Given the description of an element on the screen output the (x, y) to click on. 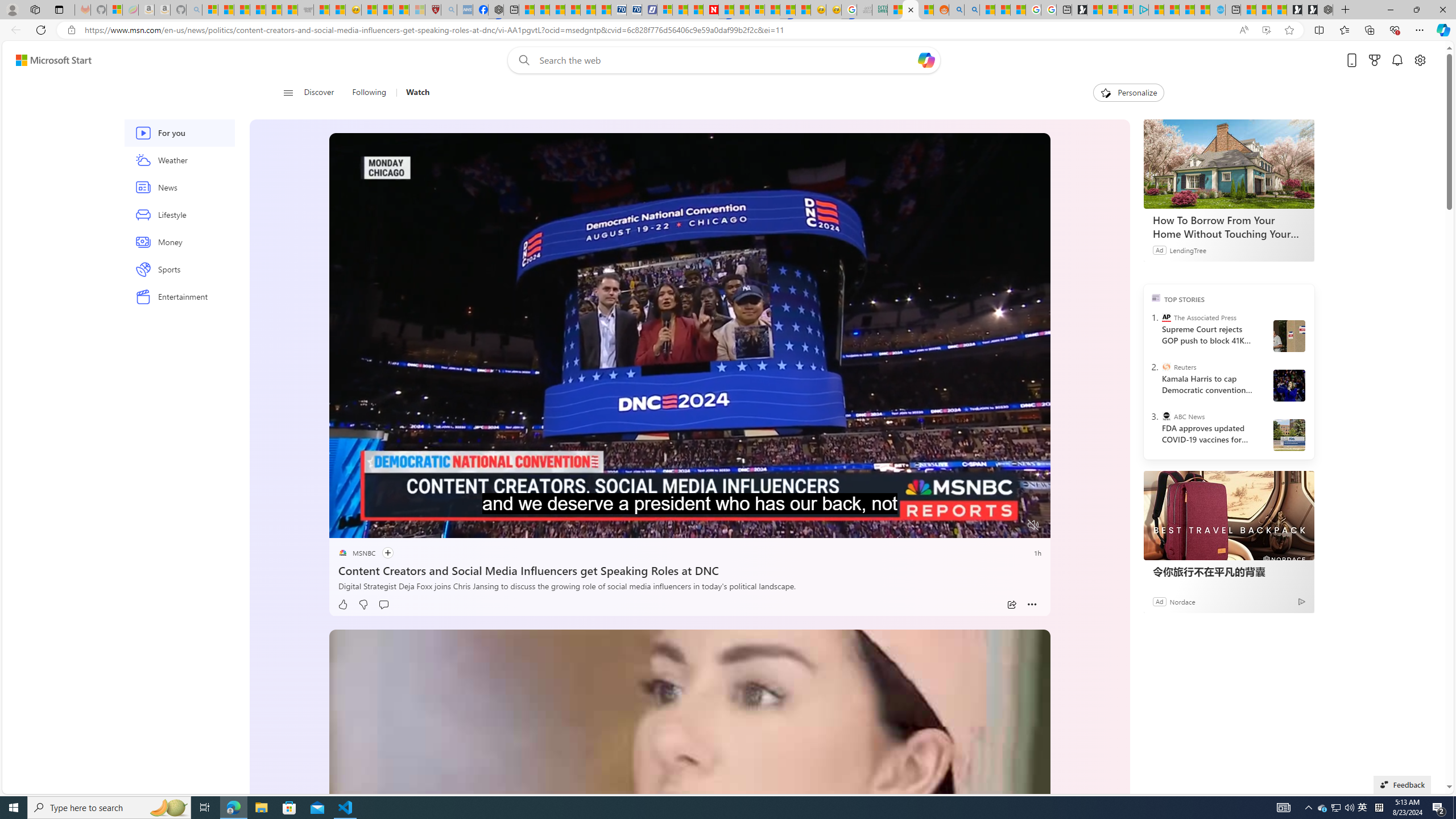
Captions (988, 525)
